Given the description of an element on the screen output the (x, y) to click on. 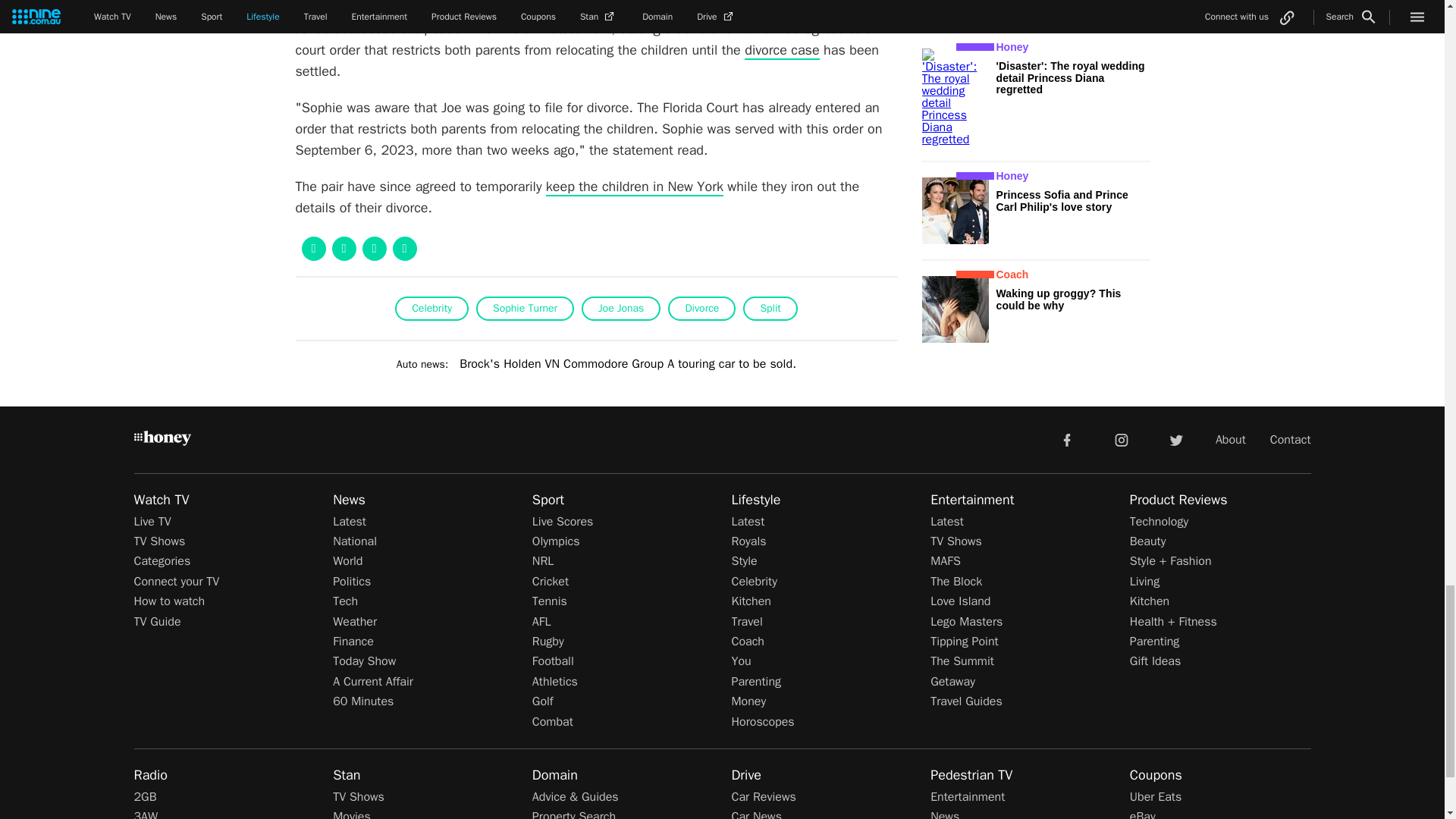
instagram (1121, 439)
divorce case (781, 50)
facebook (1066, 439)
twitter (1175, 439)
